Given the description of an element on the screen output the (x, y) to click on. 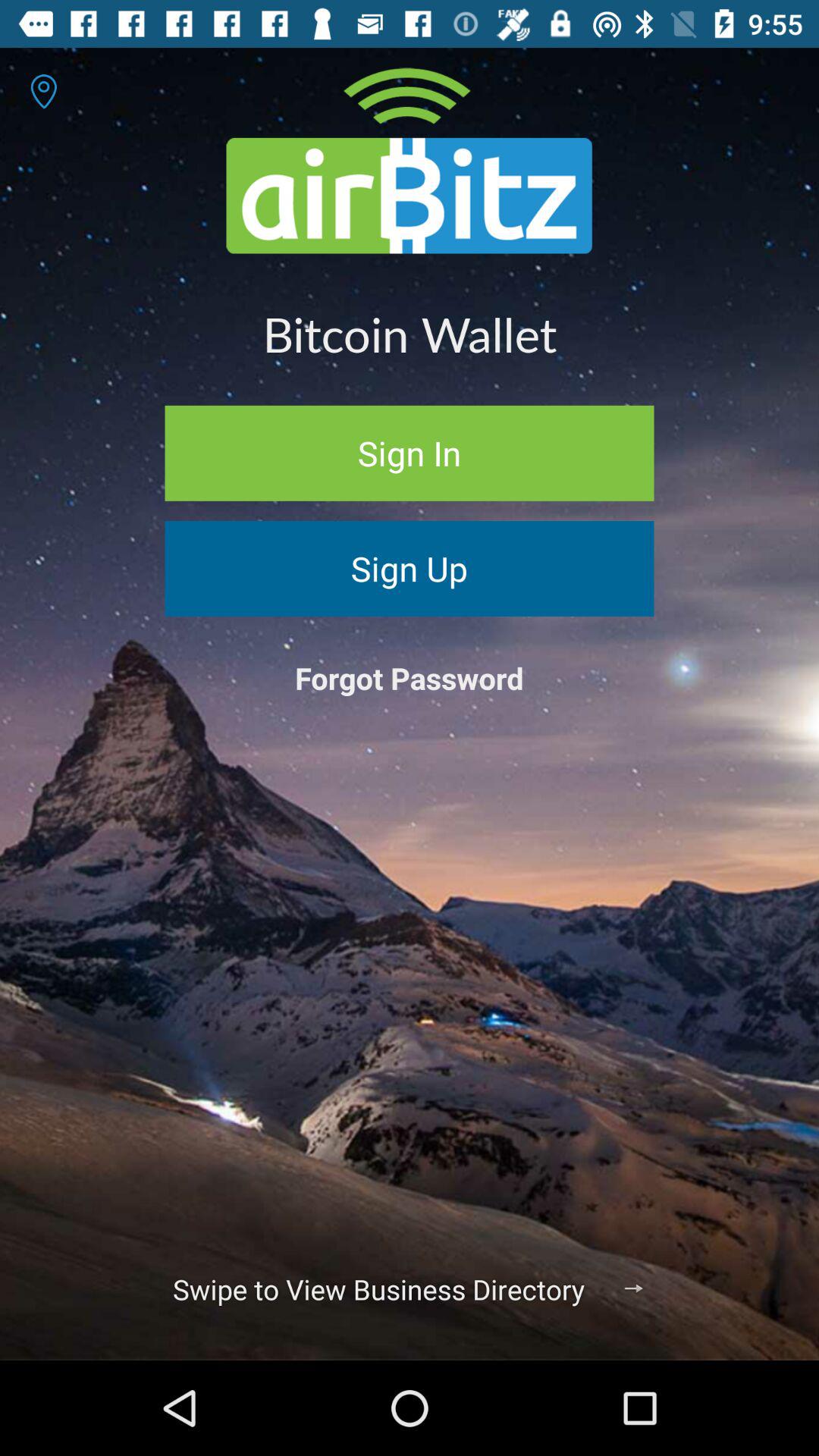
jump until the sign up item (409, 568)
